Given the description of an element on the screen output the (x, y) to click on. 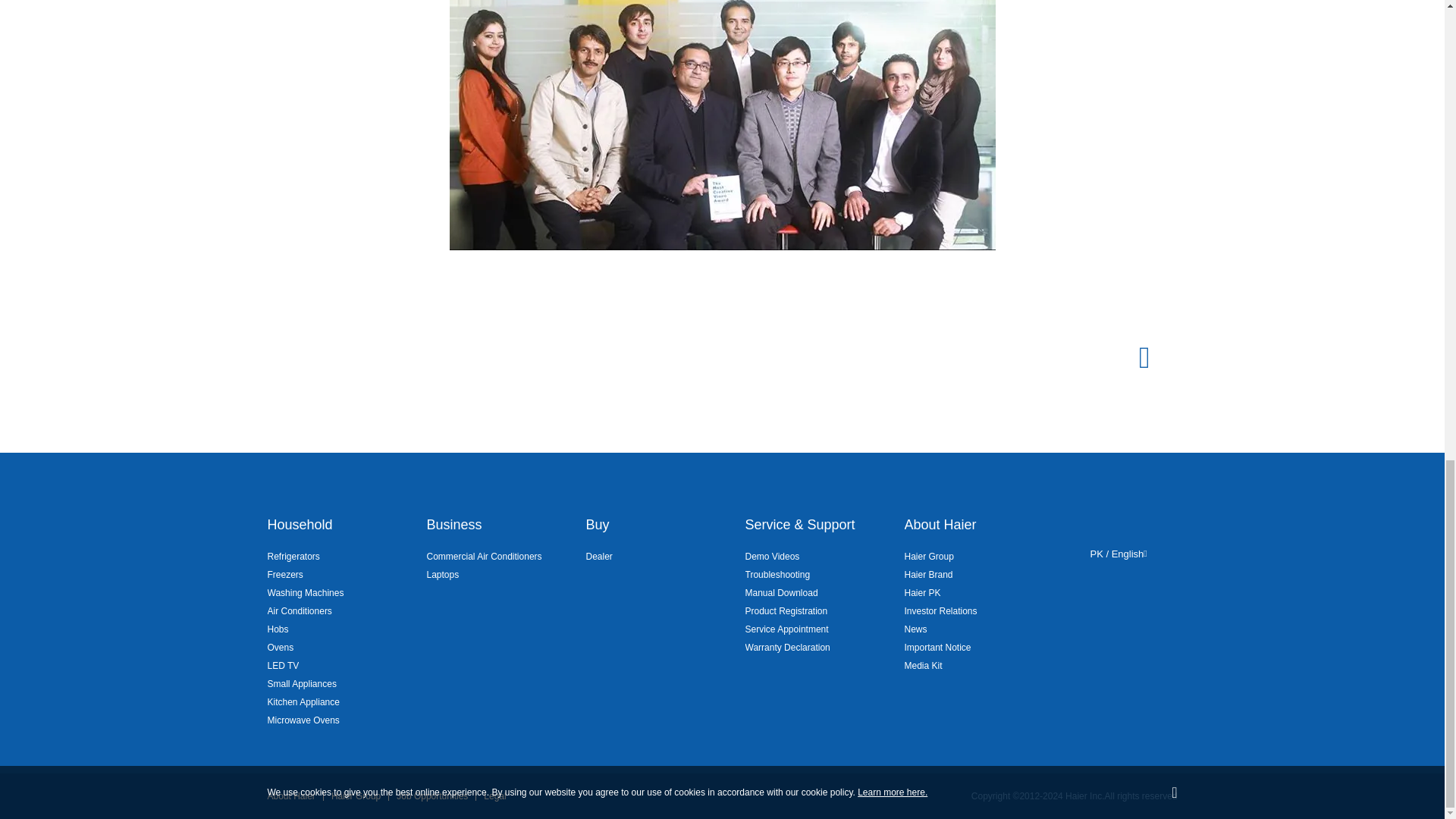
LED TV (282, 665)
Air Conditioners (298, 610)
Hobs (277, 628)
Refrigerators (292, 556)
Household (298, 524)
Ovens (280, 647)
Freezers (284, 574)
Washing Machines (304, 592)
